Given the description of an element on the screen output the (x, y) to click on. 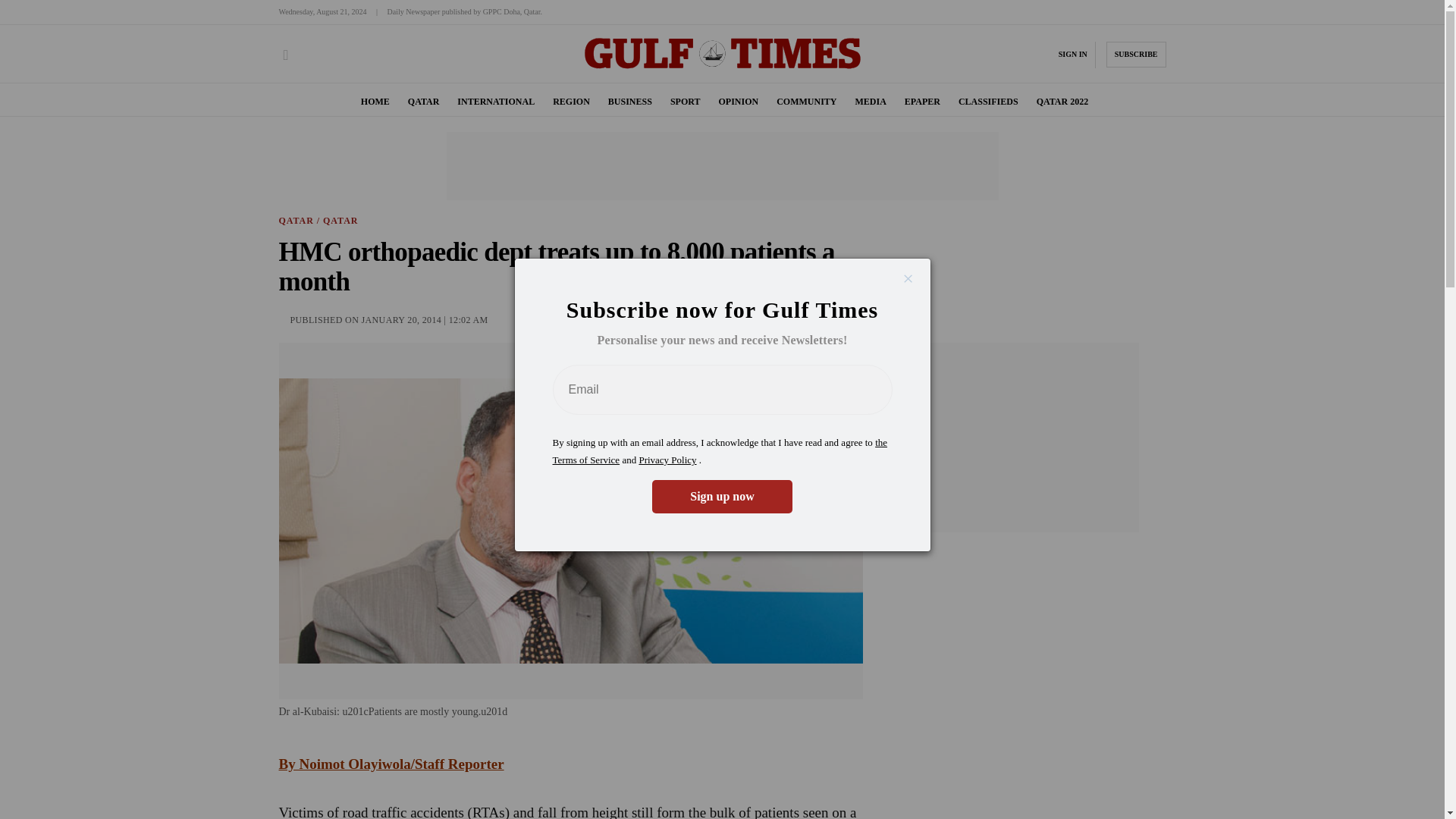
EPAPER (922, 101)
Gulf Times (721, 67)
Sign up now (722, 496)
REGION (571, 101)
QATAR 2022 (1062, 101)
MEDIA (869, 101)
twitter share (825, 318)
BUSINESS (630, 101)
INTERNATIONAL (495, 101)
CLASSIFIEDS (987, 101)
